Given the description of an element on the screen output the (x, y) to click on. 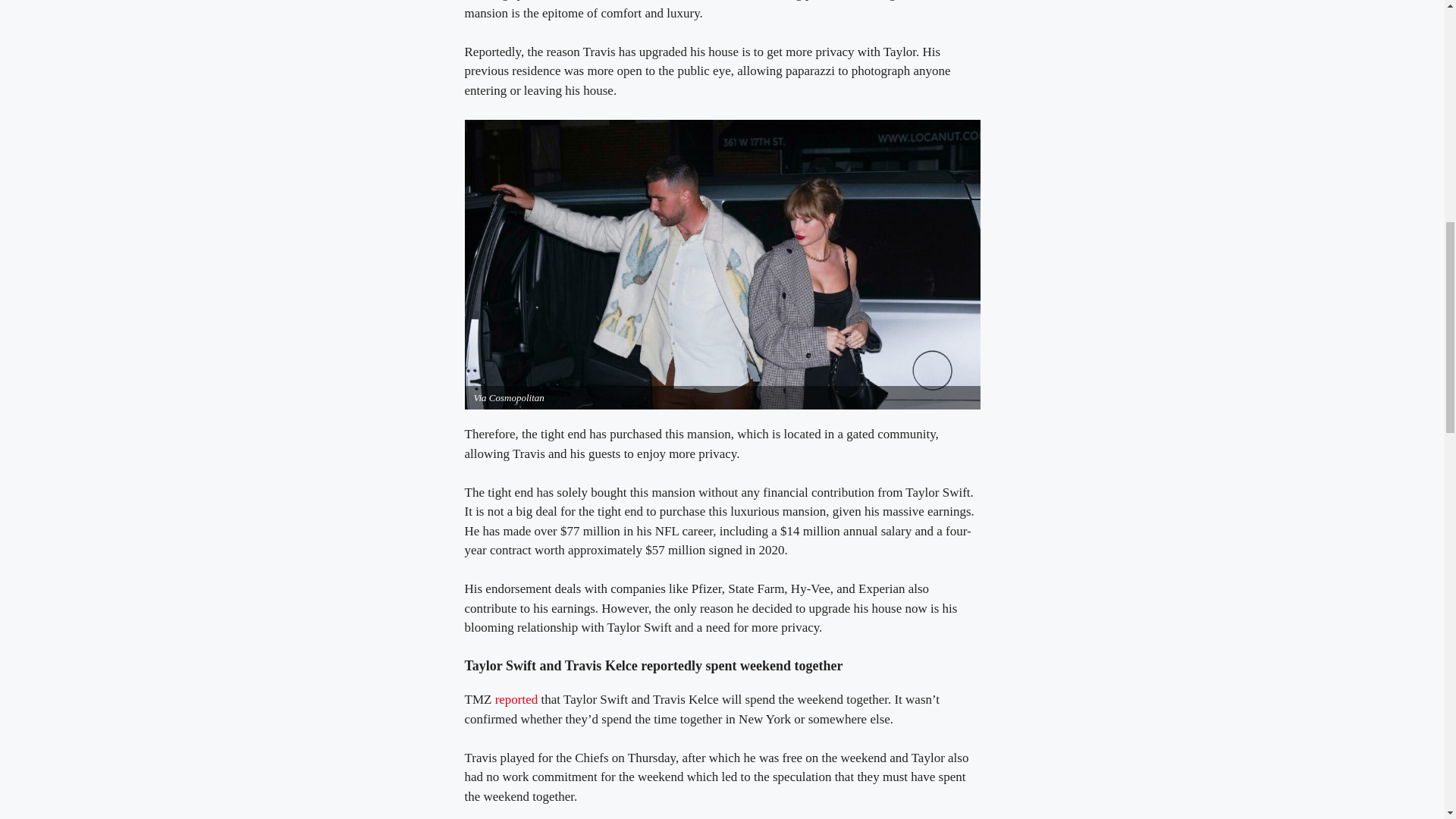
reported (516, 699)
